Given the description of an element on the screen output the (x, y) to click on. 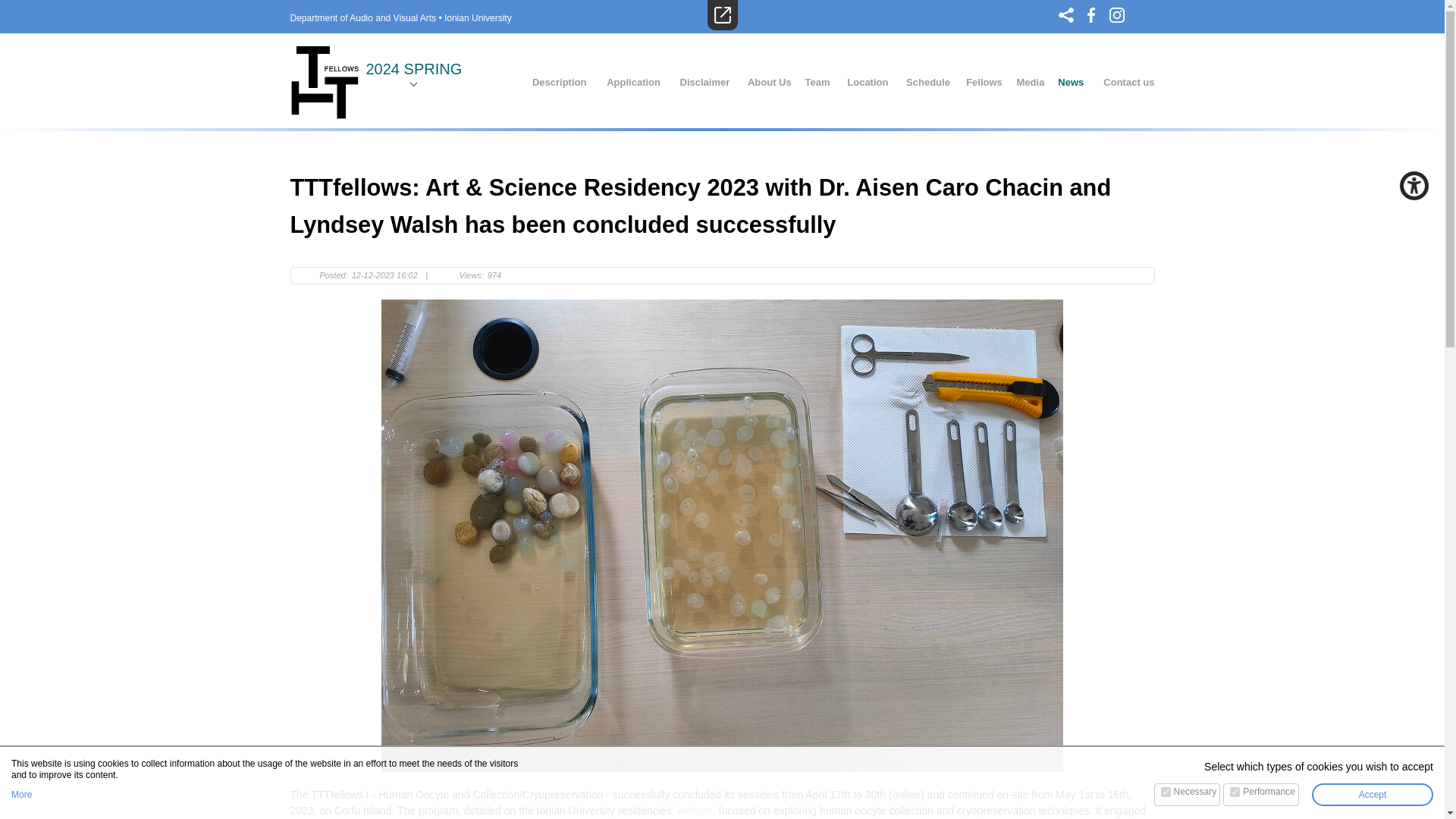
Department of Audio and Visual Arts (362, 18)
on (1235, 791)
Location (867, 83)
Department of Audio and Visual Arts (362, 18)
Application (634, 83)
About Us (770, 83)
Accept (1371, 793)
Ionian University (478, 18)
Schedule (927, 83)
on (1165, 791)
Description (559, 83)
Media (1030, 83)
Contact us (1128, 83)
Team (817, 83)
News (1070, 83)
